Given the description of an element on the screen output the (x, y) to click on. 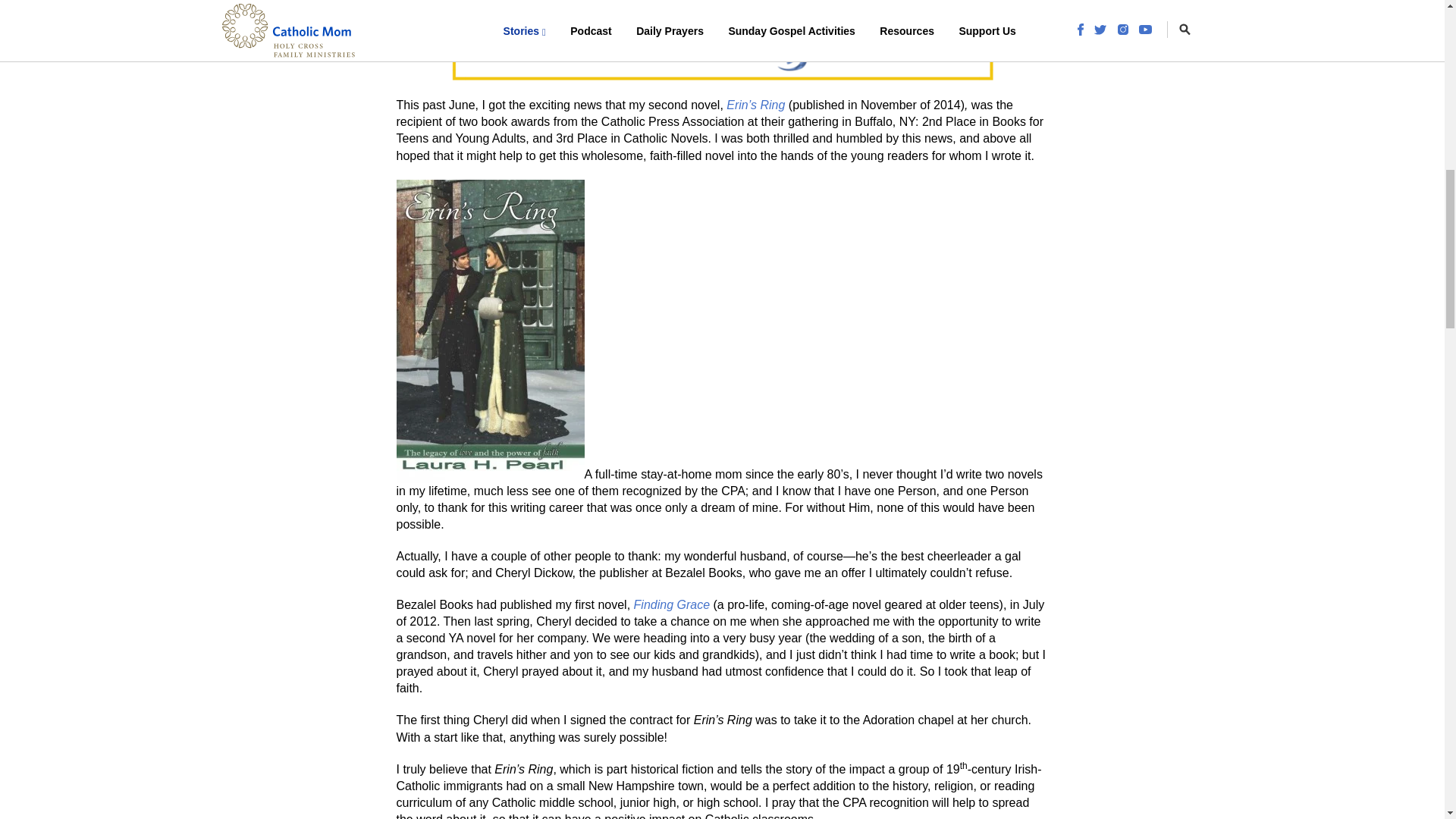
Finding Grace (671, 604)
